Given the description of an element on the screen output the (x, y) to click on. 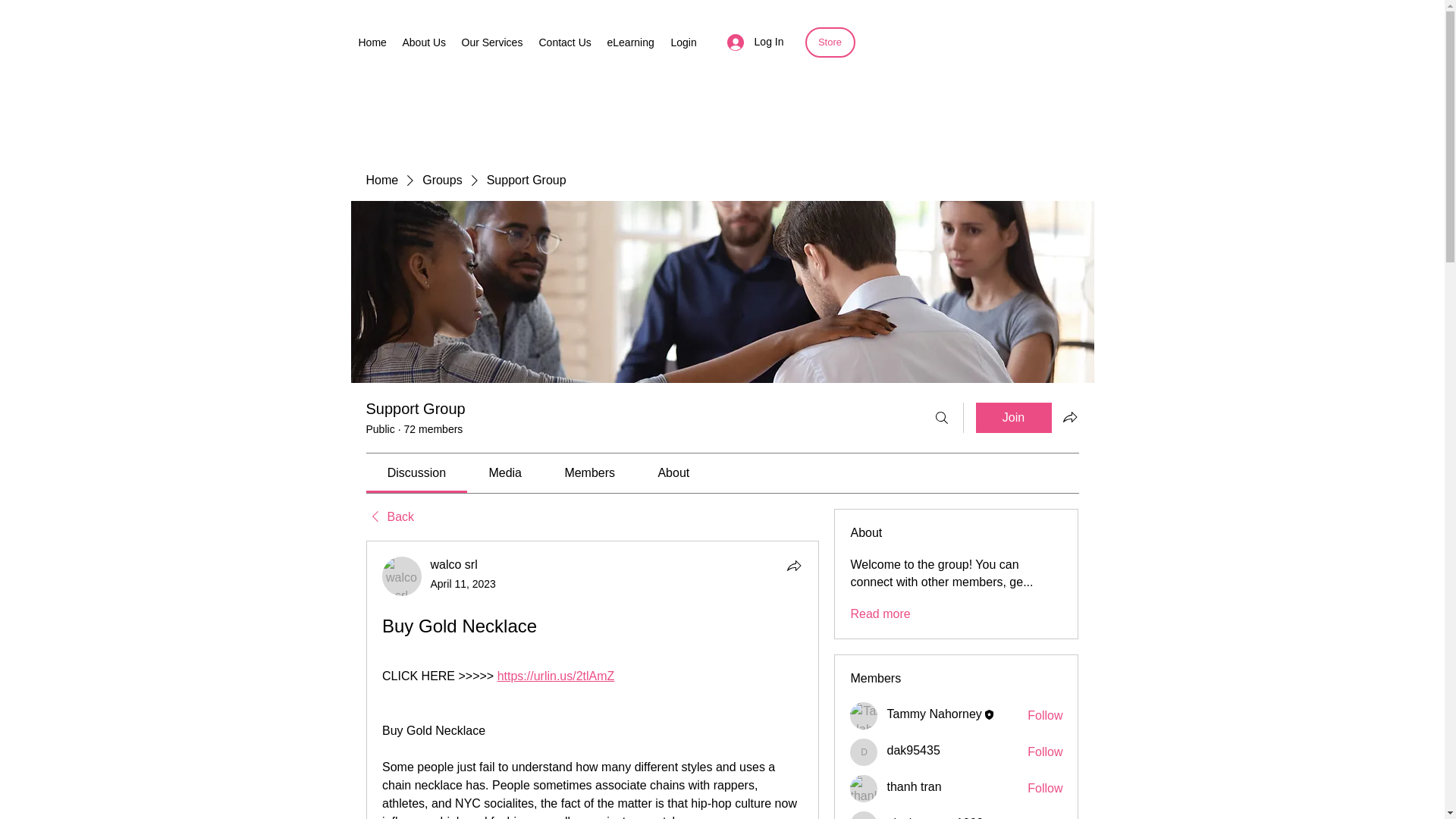
Home (381, 180)
About Us (423, 42)
eLearning (630, 42)
Login (683, 42)
Follow (1044, 788)
Groups (441, 180)
dak95435 (912, 749)
alexiagreene1998 (934, 817)
Read more (880, 614)
Tammy Nahorney (933, 713)
